Given the description of an element on the screen output the (x, y) to click on. 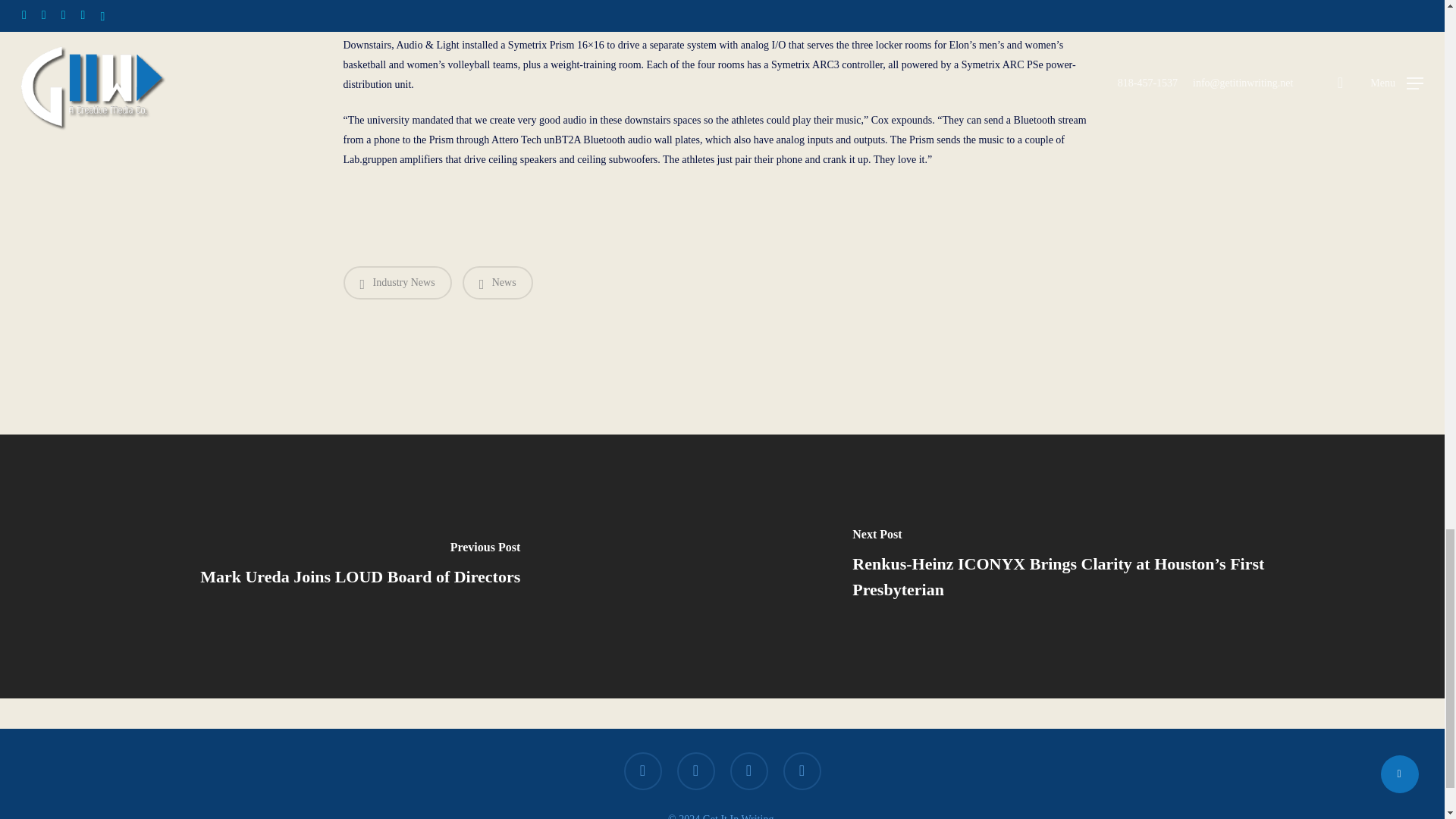
instagram (802, 771)
facebook (642, 771)
Industry News (396, 282)
News (497, 282)
youtube (748, 771)
linkedin (695, 771)
